Given the description of an element on the screen output the (x, y) to click on. 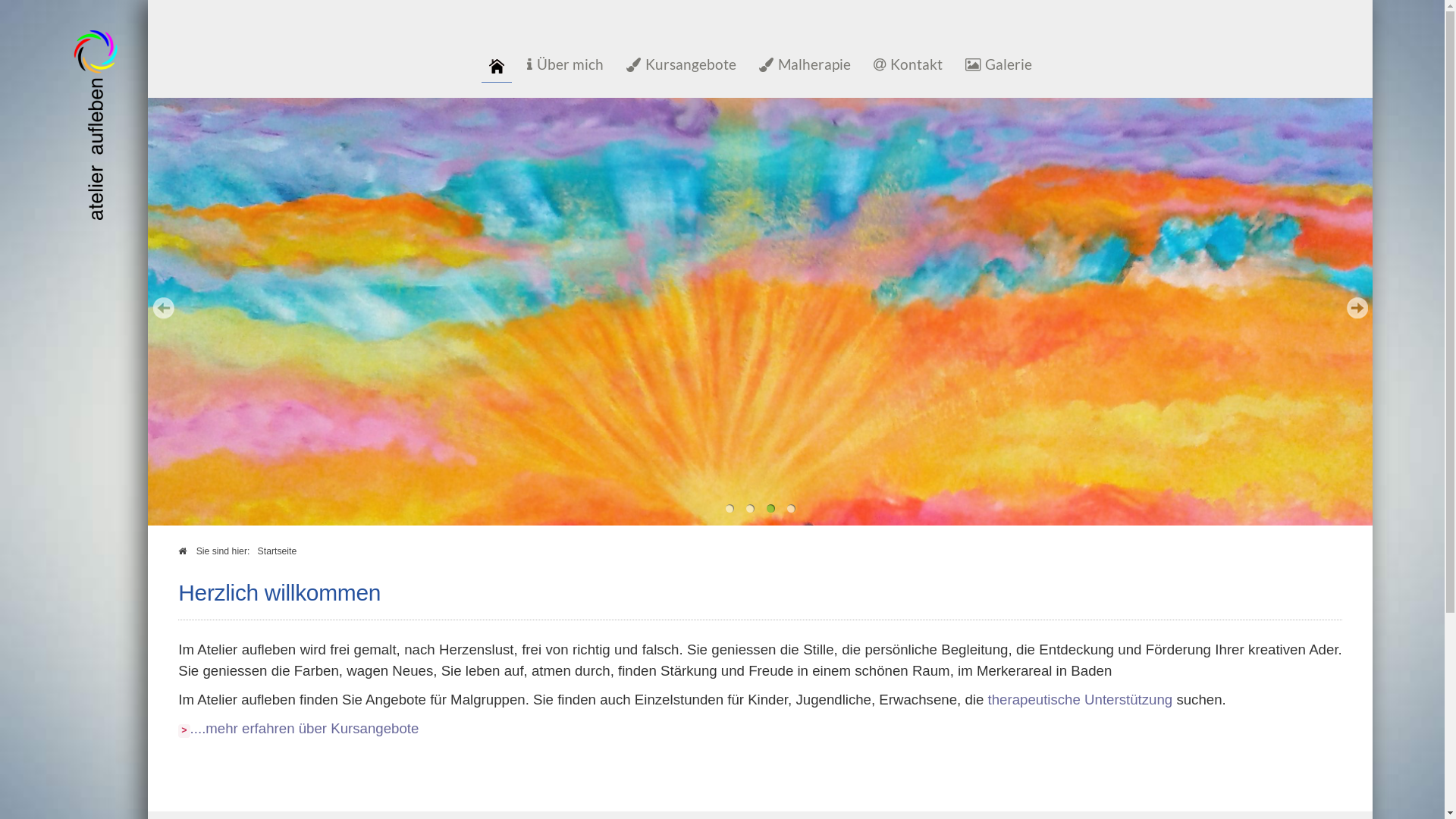
Galerie Element type: text (997, 66)
Malherapie Element type: text (803, 66)
Kontakt Element type: text (908, 66)
2 Element type: text (750, 508)
Kursangebote Element type: text (680, 66)
< Element type: text (162, 307)
4 Element type: text (791, 508)
3 Element type: text (769, 508)
> Element type: text (1357, 307)
Angebote Element type: text (395, 699)
1 Element type: text (728, 508)
